Given the description of an element on the screen output the (x, y) to click on. 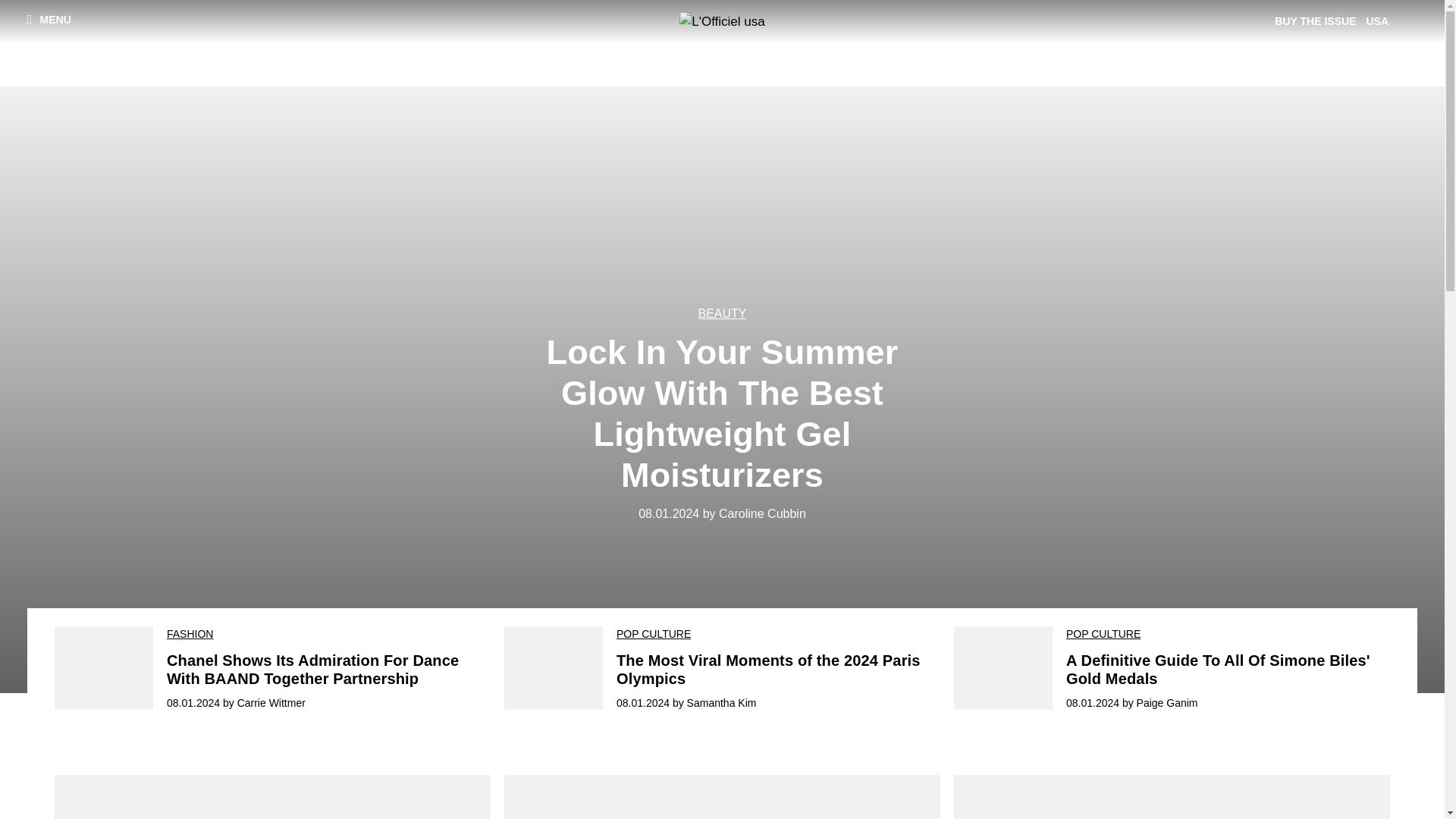
USA (1379, 21)
L'Officiel usa (721, 21)
BUY THE ISSUE (1318, 21)
MENU (49, 19)
L'Officiel usa (721, 21)
